Given the description of an element on the screen output the (x, y) to click on. 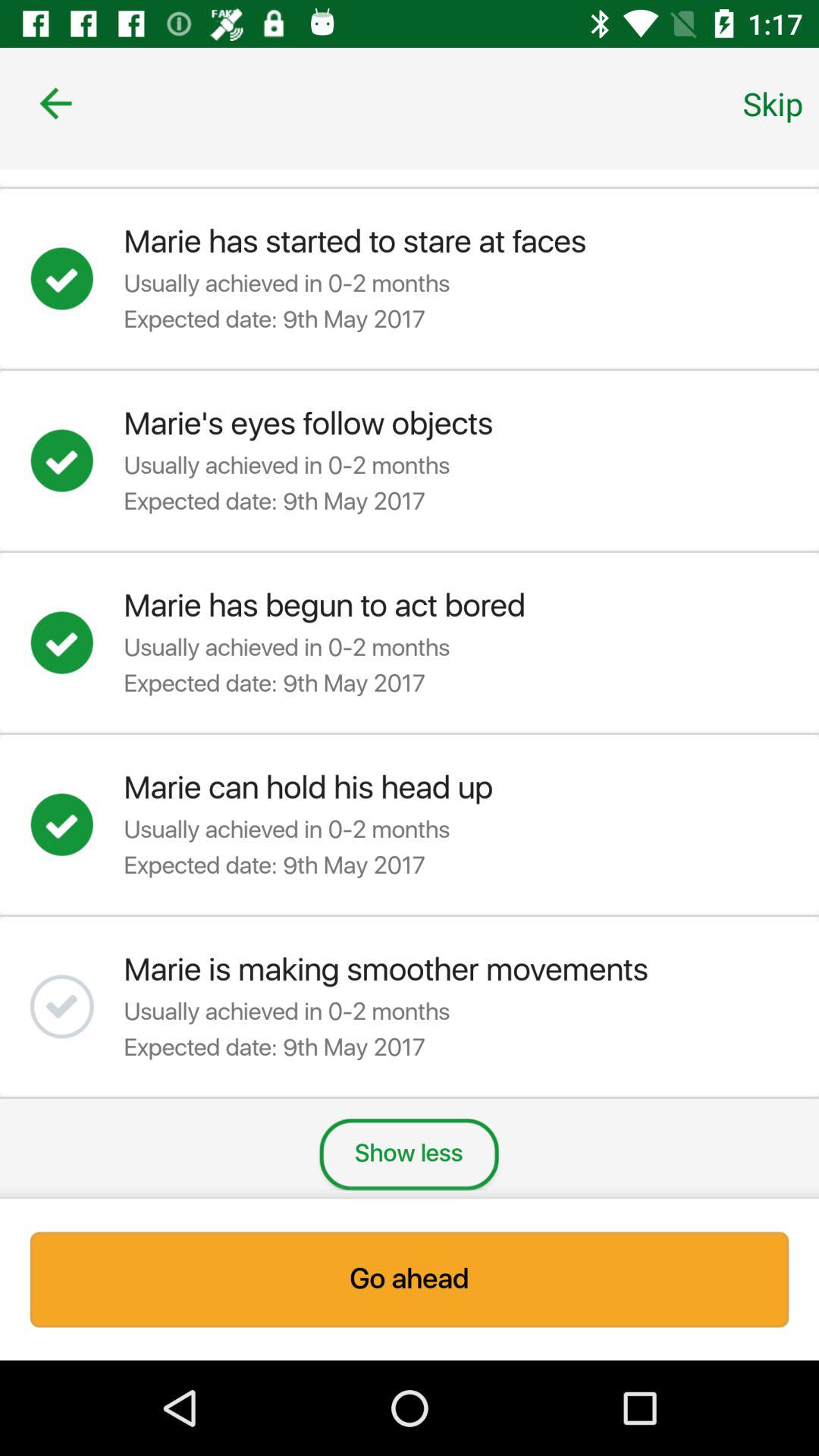
go back (55, 103)
